Given the description of an element on the screen output the (x, y) to click on. 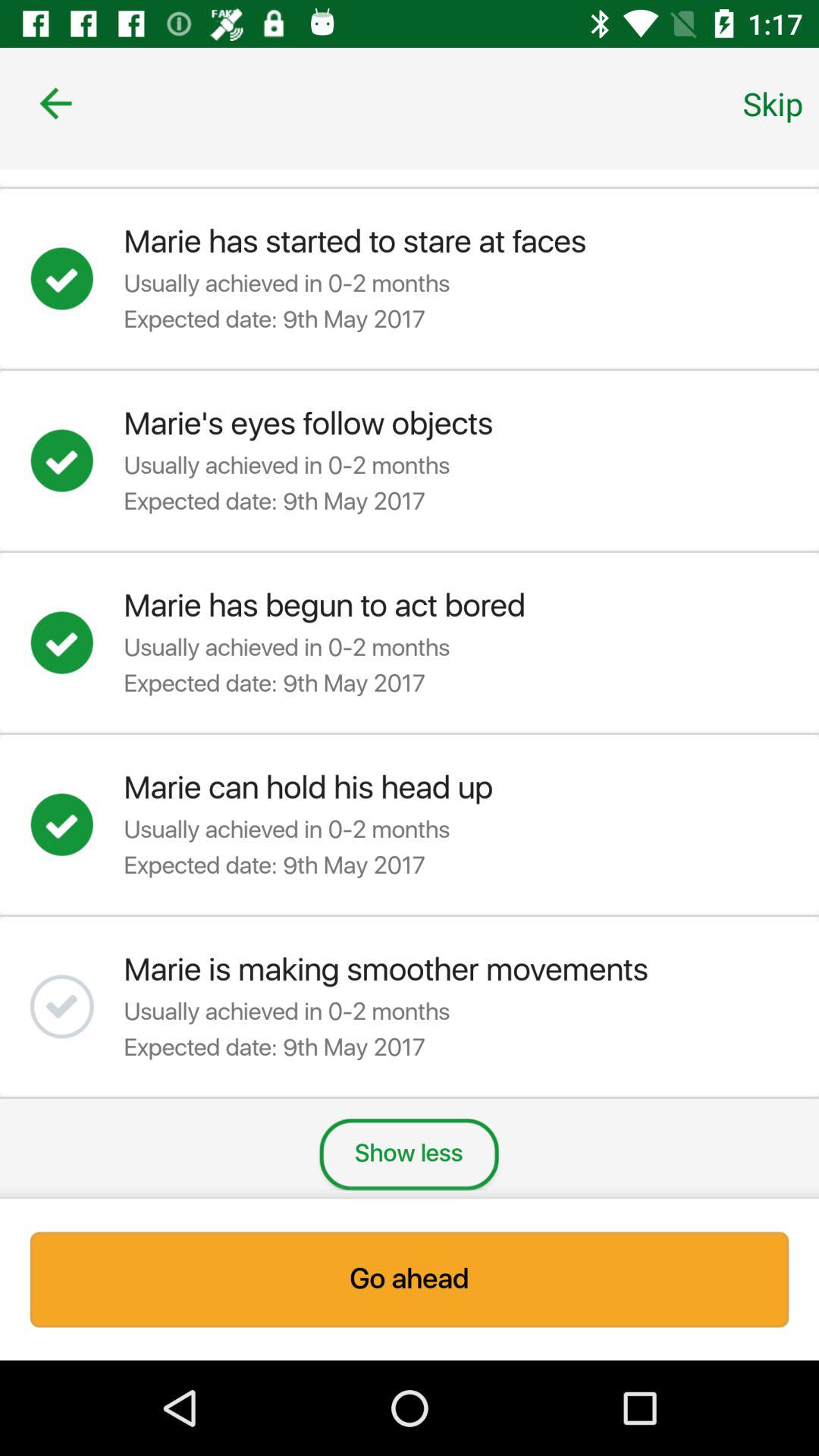
go back (55, 103)
